Given the description of an element on the screen output the (x, y) to click on. 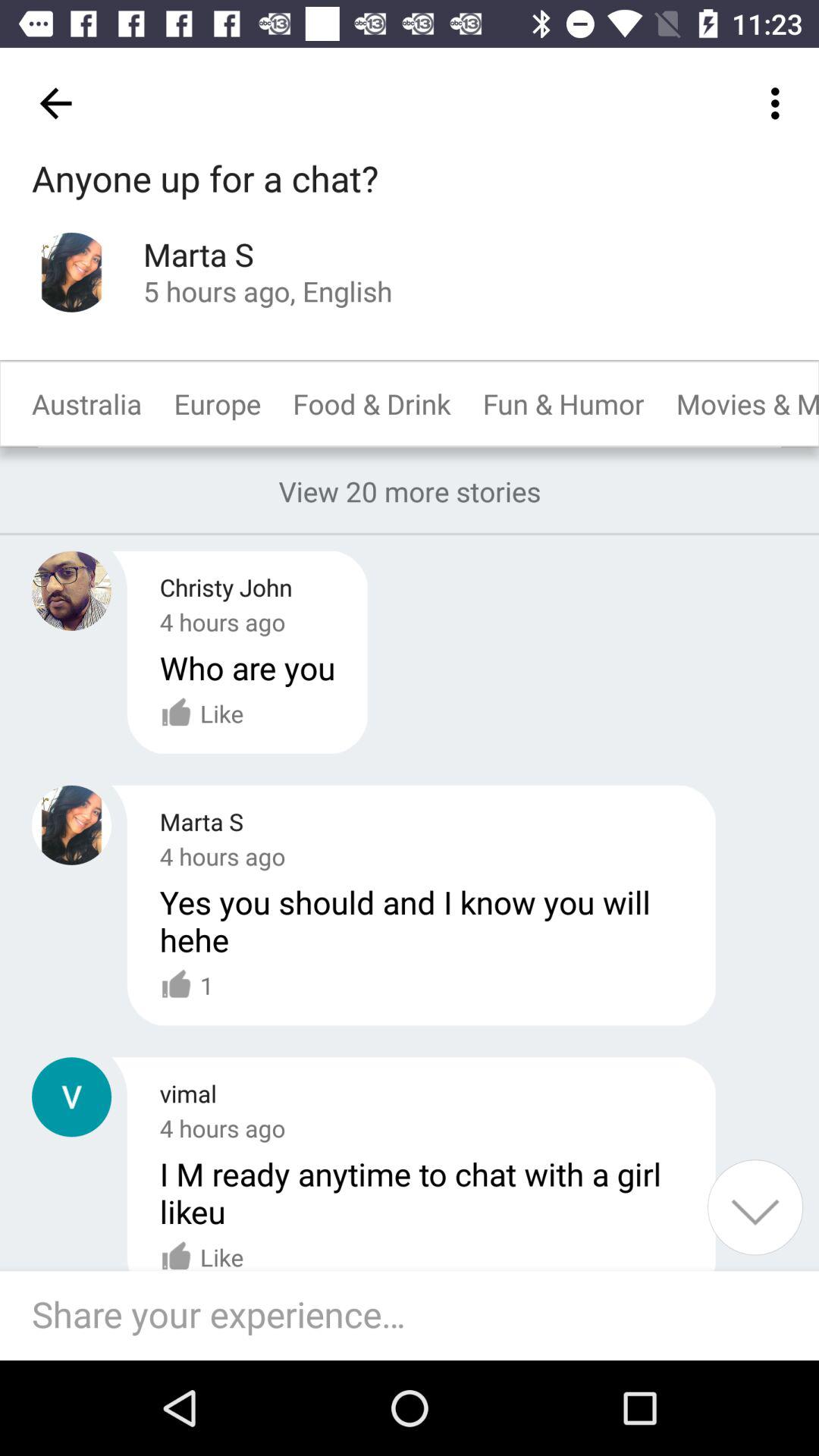
type comment (417, 1315)
